Given the description of an element on the screen output the (x, y) to click on. 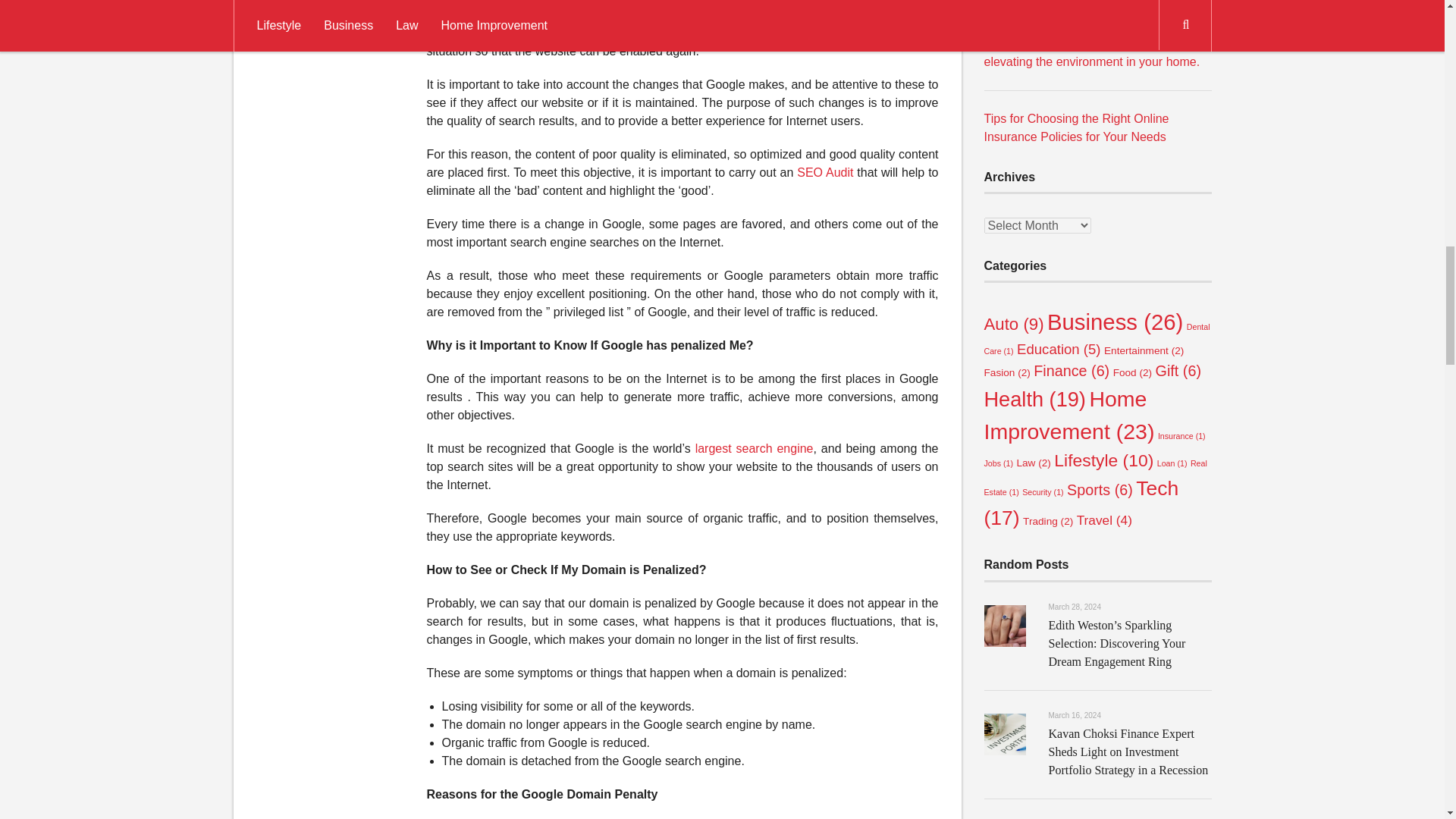
largest search engine (754, 448)
SEO Audit (824, 172)
